Given the description of an element on the screen output the (x, y) to click on. 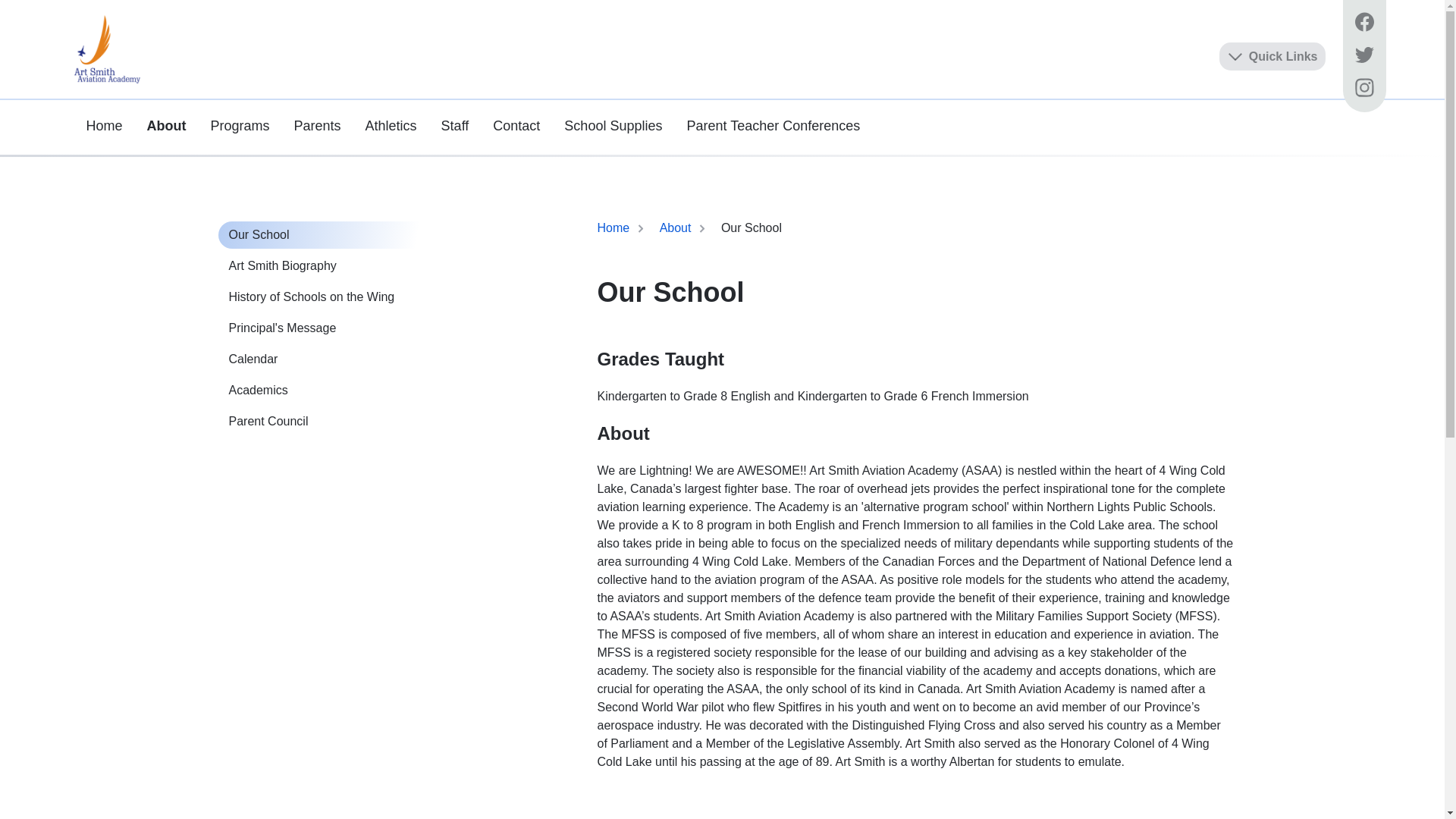
Academics Element type: text (328, 390)
Parents Element type: text (317, 125)
Principal's Message Element type: text (328, 328)
Contact Element type: text (516, 125)
Twitter Element type: text (1363, 56)
Facebook Element type: text (1363, 23)
History of Schools on the Wing Element type: text (328, 296)
Instagram Element type: text (1363, 89)
About Element type: text (675, 228)
Home Element type: text (104, 125)
Home Element type: text (613, 228)
Staff Element type: text (454, 125)
Calendar Element type: text (328, 359)
Athletics Element type: text (390, 125)
Parent Council Element type: text (328, 421)
About Element type: text (166, 125)
Our School Element type: text (328, 234)
School Supplies Element type: text (612, 125)
home Element type: hover (107, 49)
Parent Teacher Conferences Element type: text (772, 125)
Quick Links Element type: text (1272, 56)
Art Smith Biography Element type: text (328, 265)
Programs Element type: text (240, 125)
